Given the description of an element on the screen output the (x, y) to click on. 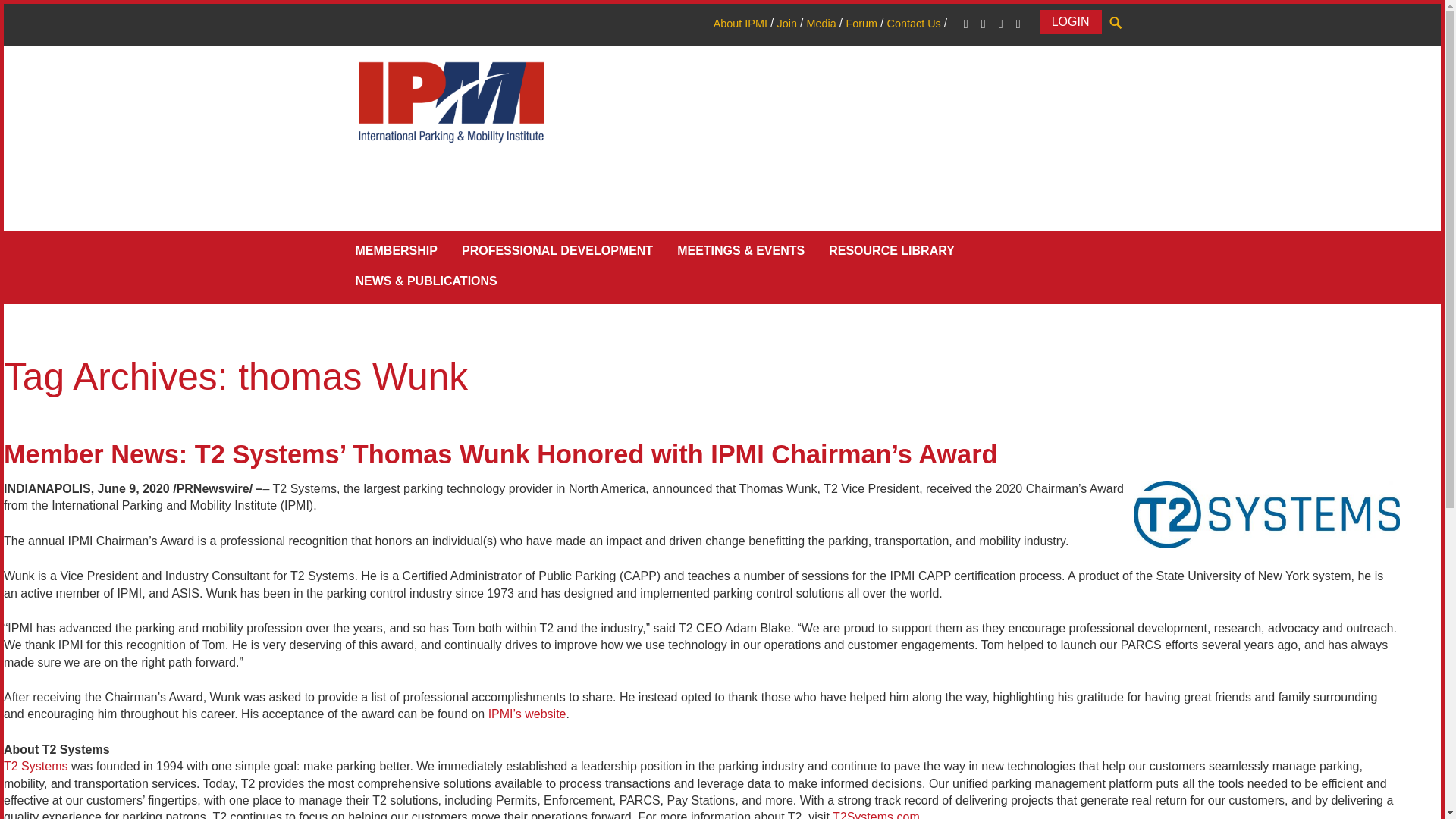
MEMBERSHIP (395, 253)
PROFESSIONAL DEVELOPMENT (557, 253)
Forum (861, 23)
Join (786, 23)
Contact Us (913, 23)
LOGIN (1070, 21)
Media (821, 23)
IPMI (450, 101)
About IPMI (740, 23)
RESOURCE LIBRARY (891, 253)
